Given the description of an element on the screen output the (x, y) to click on. 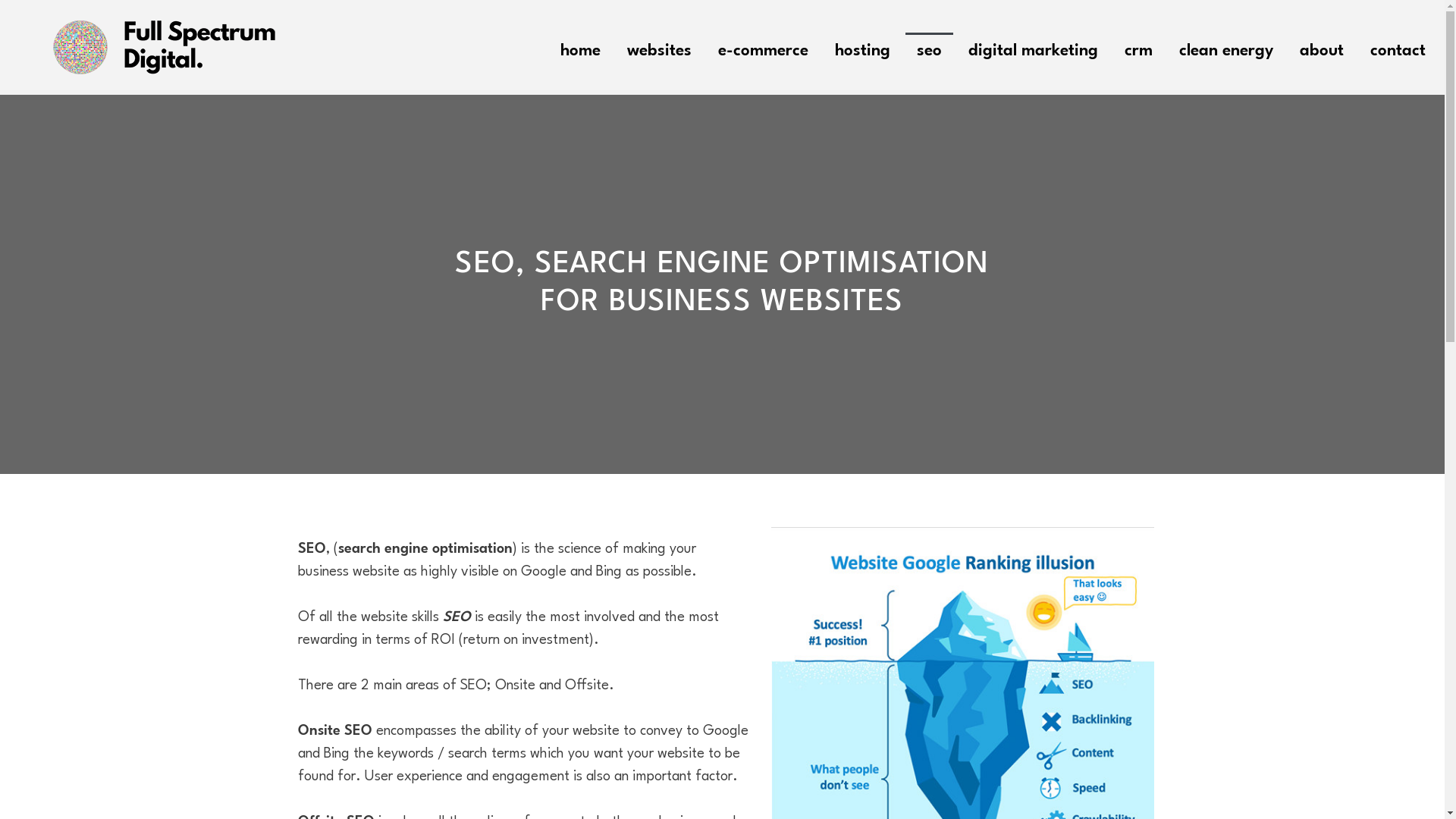
hosting Element type: text (862, 46)
websites Element type: text (658, 46)
seo Element type: text (929, 46)
crm Element type: text (1138, 46)
contact Element type: text (1397, 46)
home Element type: text (580, 46)
about Element type: text (1321, 46)
e-commerce Element type: text (762, 46)
digital marketing Element type: text (1033, 46)
clean energy Element type: text (1225, 46)
